Given the description of an element on the screen output the (x, y) to click on. 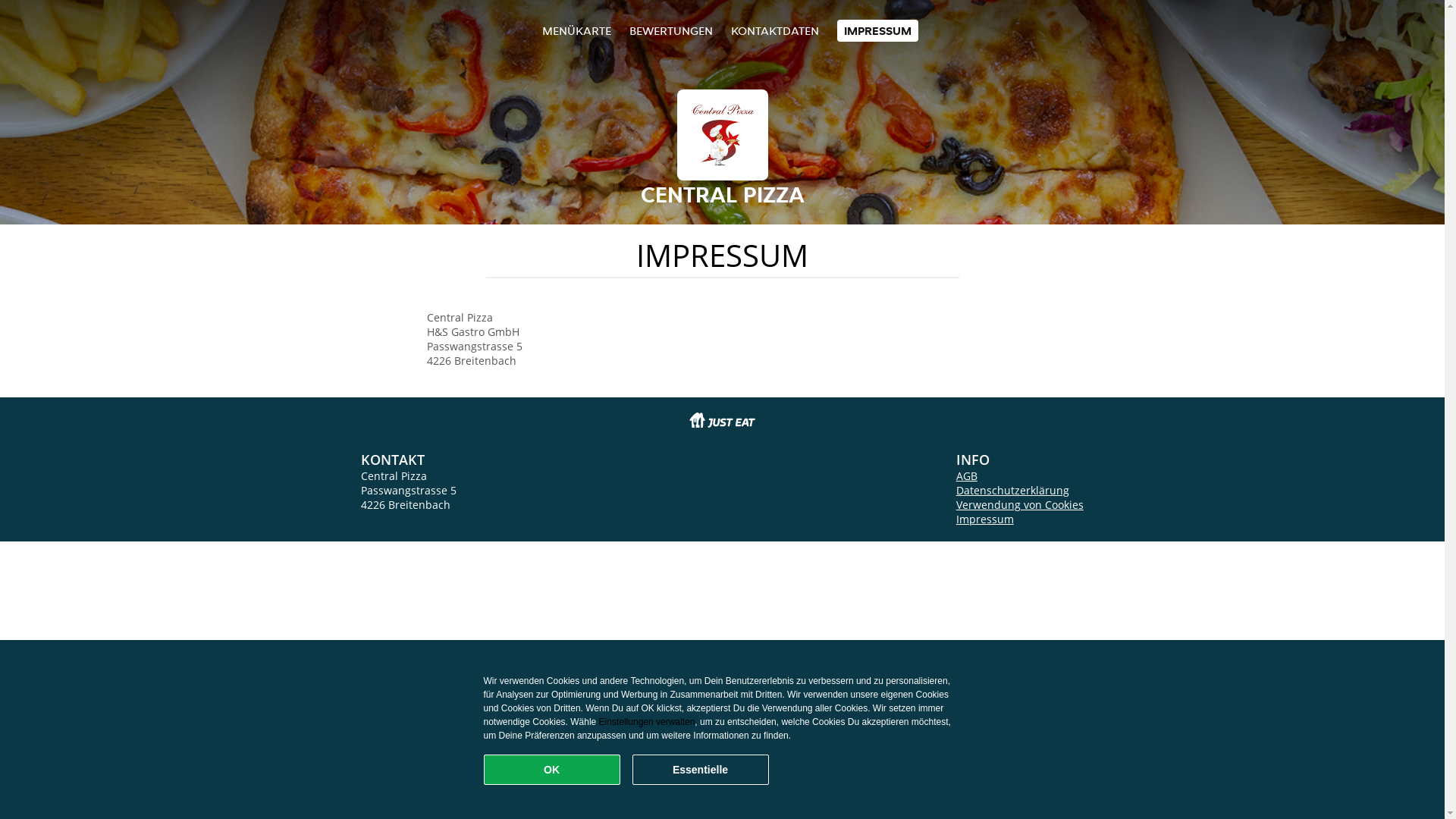
Einstellungen verwalten Element type: text (647, 721)
OK Element type: text (551, 769)
Essentielle Element type: text (700, 769)
IMPRESSUM Element type: text (877, 30)
AGB Element type: text (966, 475)
BEWERTUNGEN Element type: text (670, 30)
Verwendung von Cookies Element type: text (1019, 504)
Impressum Element type: text (984, 518)
KONTAKTDATEN Element type: text (775, 30)
